Given the description of an element on the screen output the (x, y) to click on. 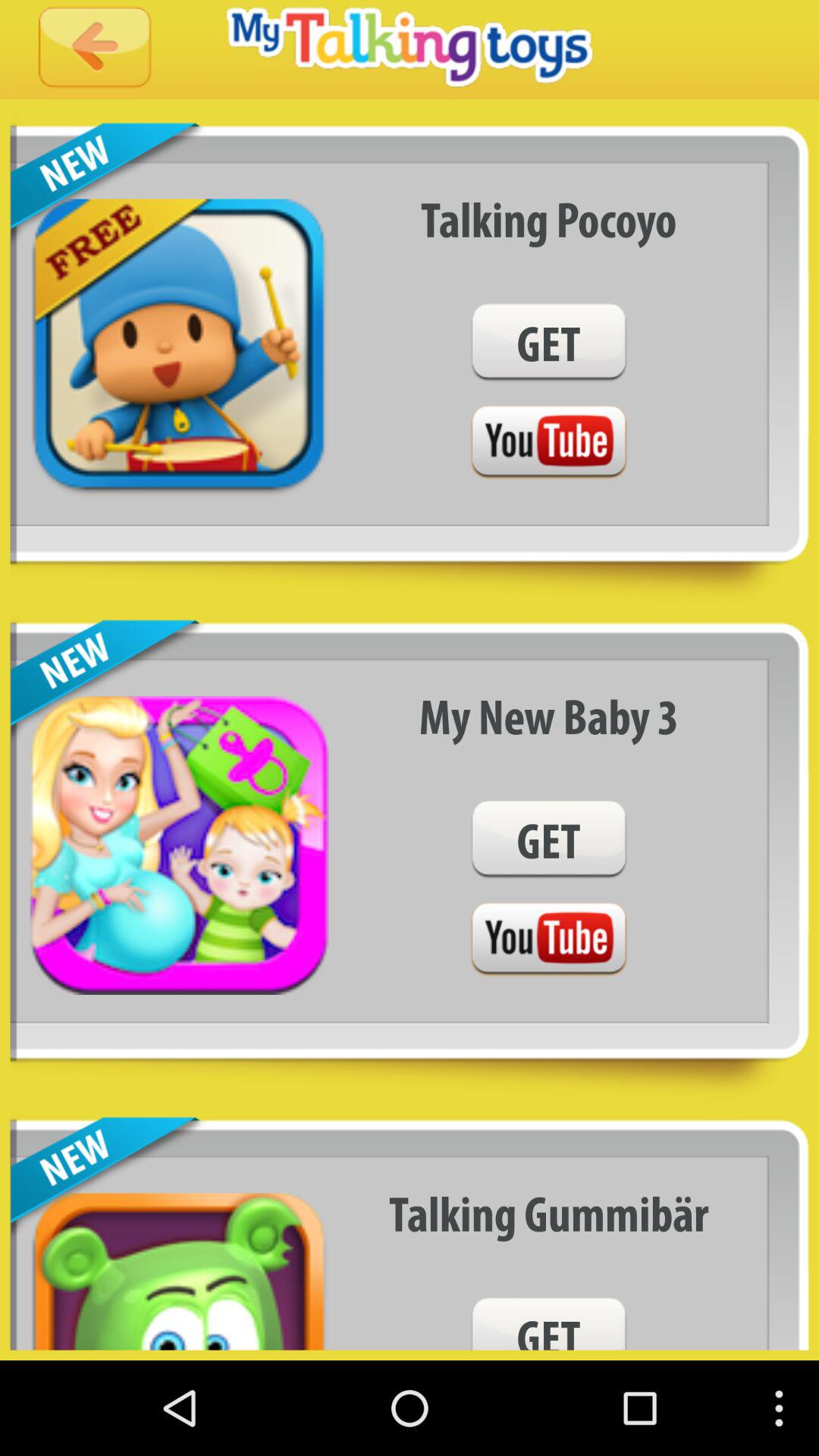
go to you tube (548, 939)
